Given the description of an element on the screen output the (x, y) to click on. 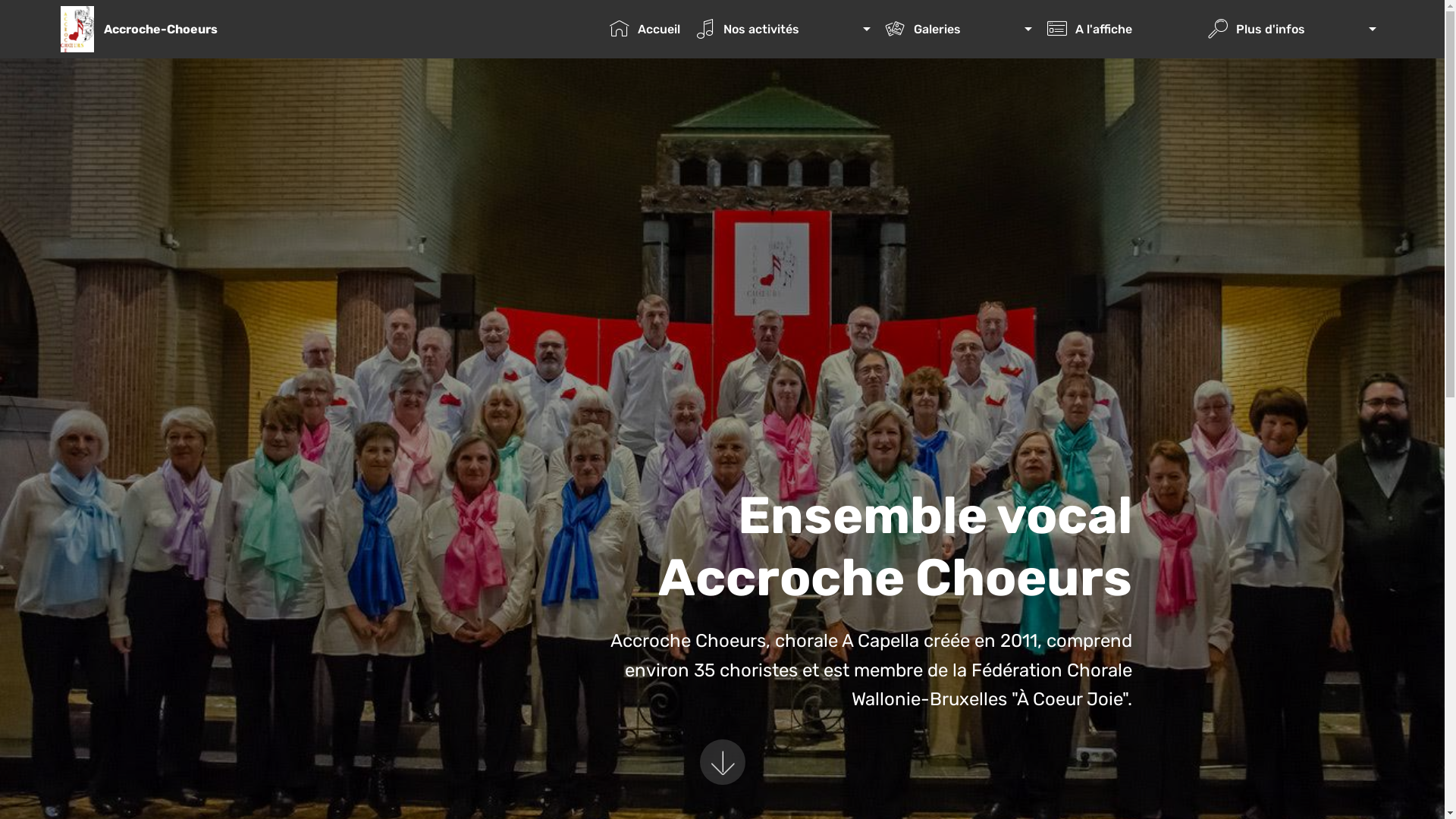
Galeries                     Element type: text (958, 28)
A l'affiche                     Element type: text (1119, 28)
Accroche-Choeurs Element type: text (172, 28)
Plus d'infos                     Element type: text (1291, 28)
Accueil Element type: text (644, 28)
